Given the description of an element on the screen output the (x, y) to click on. 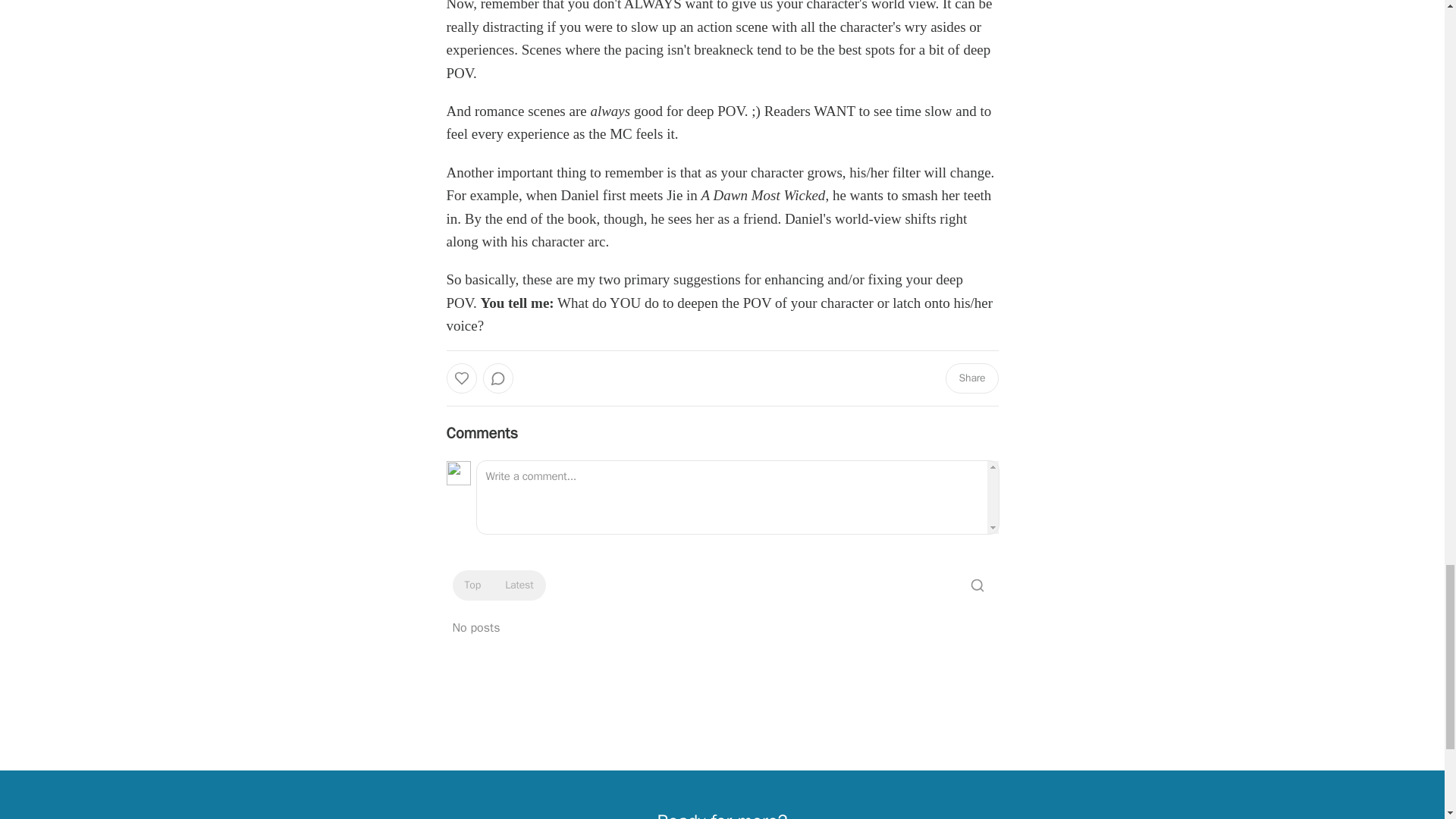
Share (970, 377)
Latest (518, 585)
Top (471, 585)
